Given the description of an element on the screen output the (x, y) to click on. 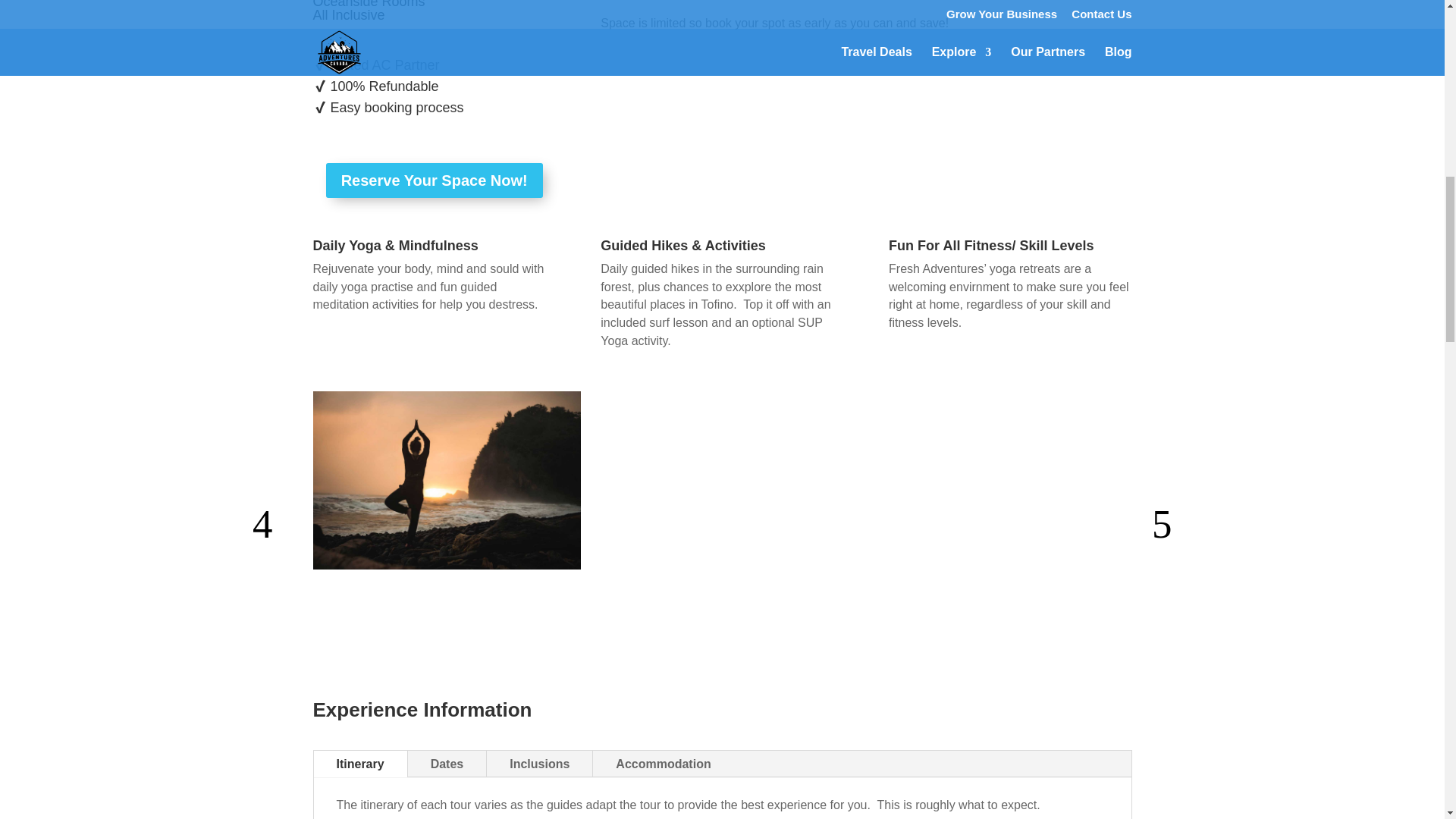
Reserve Your Space Now! (434, 180)
